Given the description of an element on the screen output the (x, y) to click on. 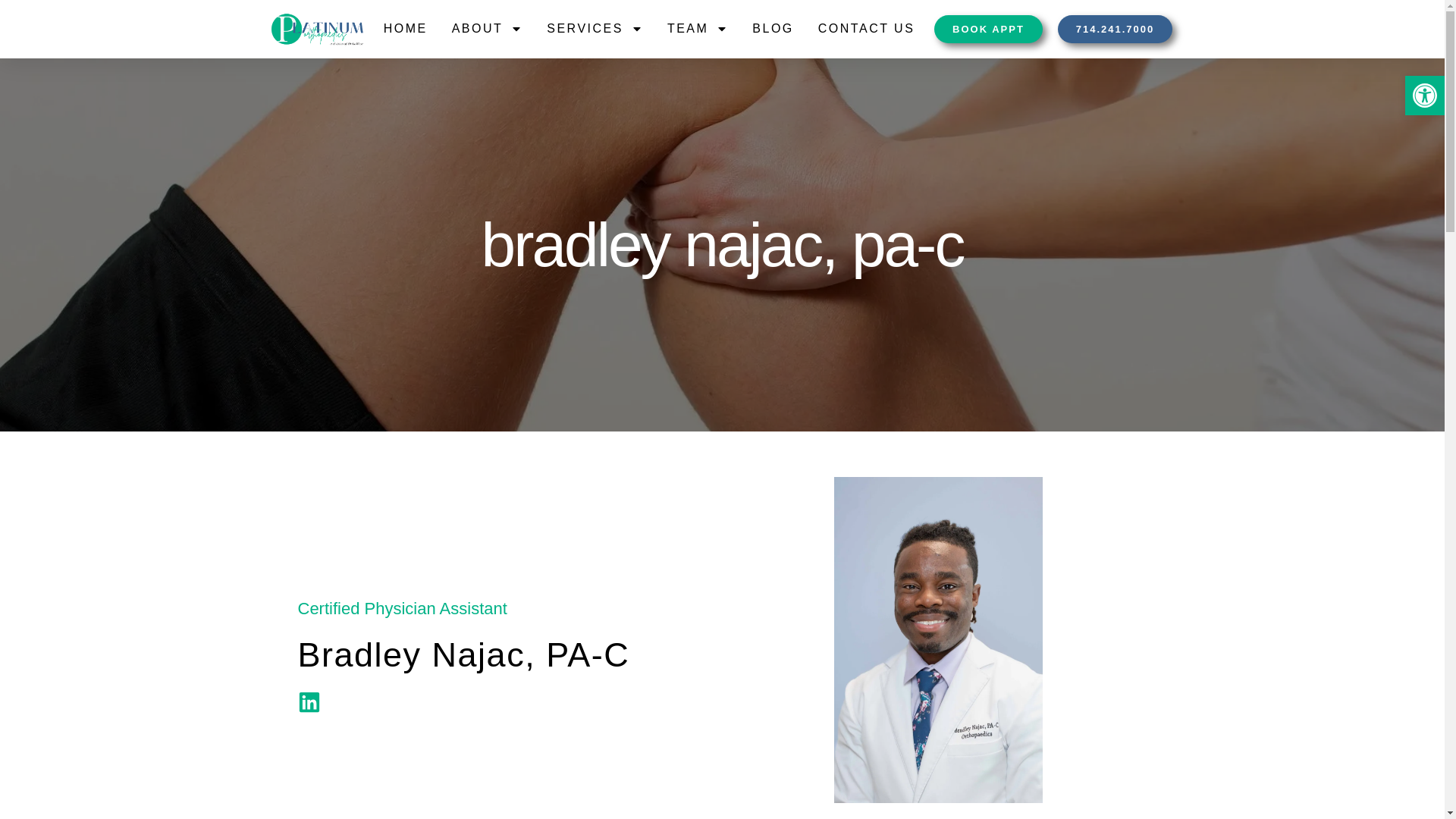
SERVICES (595, 28)
HOME (406, 28)
ABOUT (486, 28)
Accessibility Tools (1424, 95)
